Given the description of an element on the screen output the (x, y) to click on. 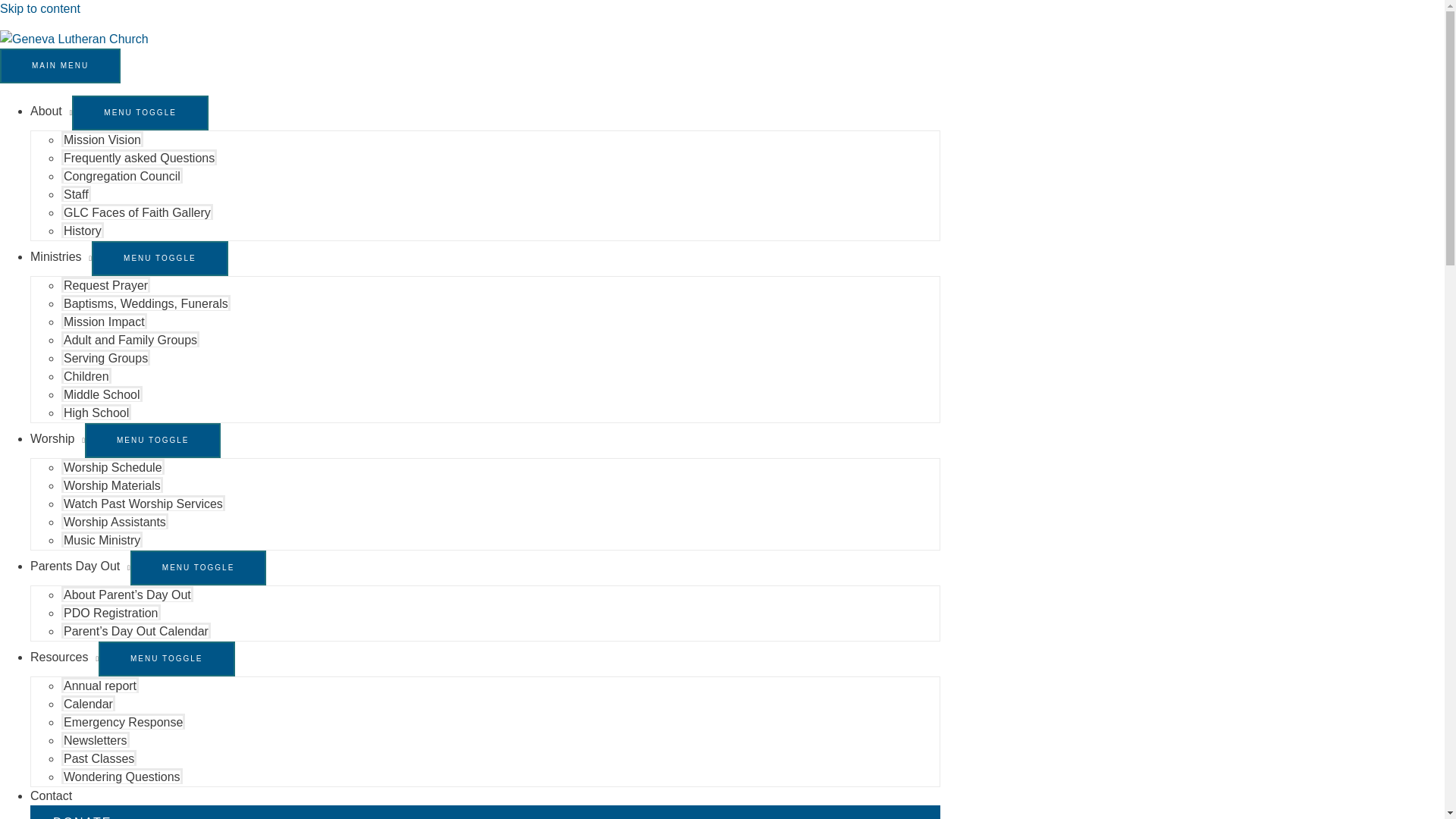
High School (96, 412)
Middle School (101, 393)
About (50, 110)
Frequently asked Questions (138, 157)
Emergency Response (122, 721)
MENU TOGGLE (139, 112)
Mission Impact (104, 320)
Worship Assistants (114, 521)
Watch Past Worship Services (143, 503)
MENU TOGGLE (159, 258)
